Given the description of an element on the screen output the (x, y) to click on. 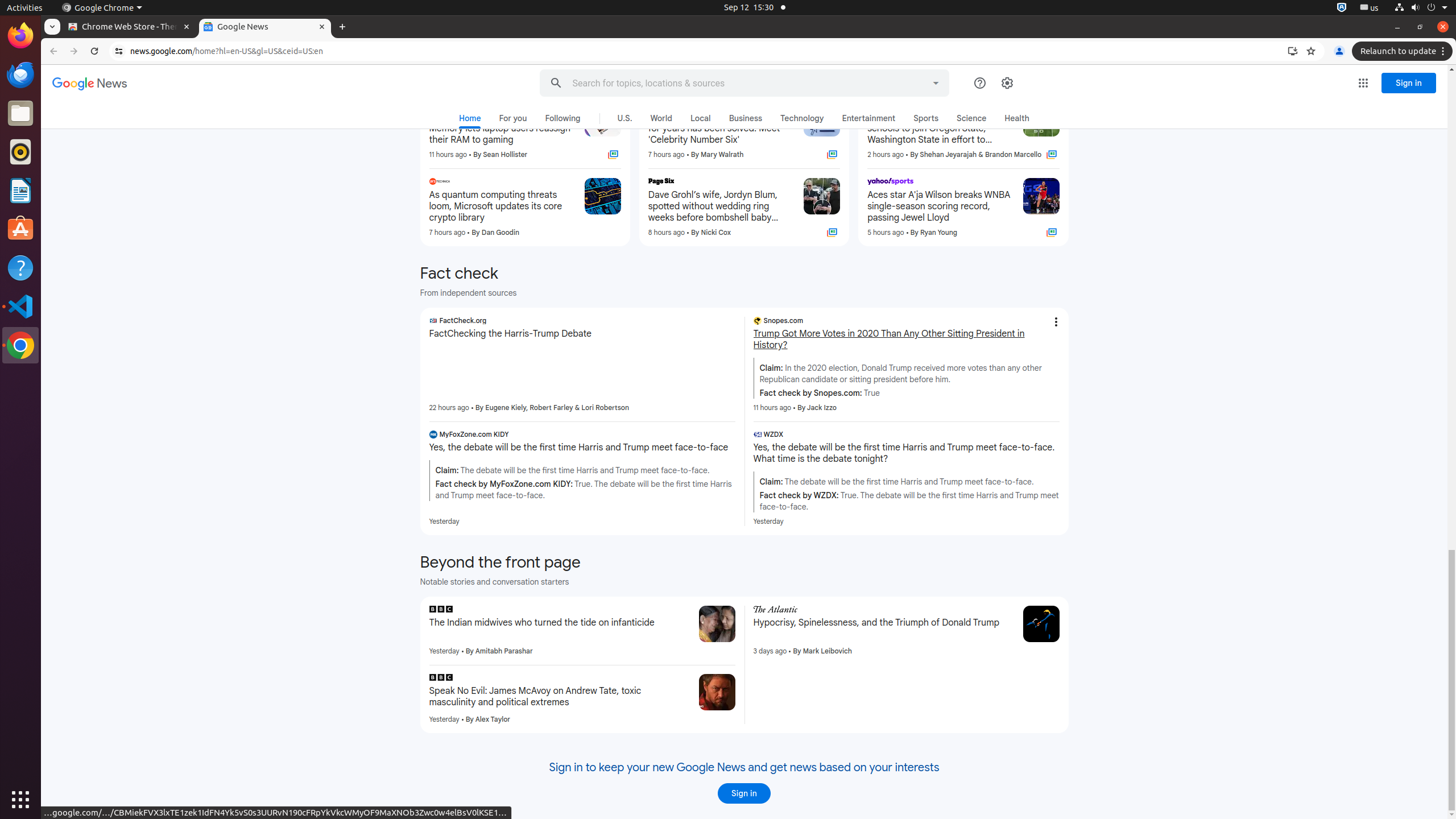
As quantum computing threats loom, Microsoft updates its core crypto library Element type: link (501, 206)
More - Dave Grohl’s wife, Jordyn Blum, spotted without wedding ring weeks before bombshell baby news Element type: push-button (791, 183)
Taylor Swift wins big at MTV Video Music Awards, ties Beyoncé’s record and thanks Travis Kelce Element type: link (721, 50)
